Given the description of an element on the screen output the (x, y) to click on. 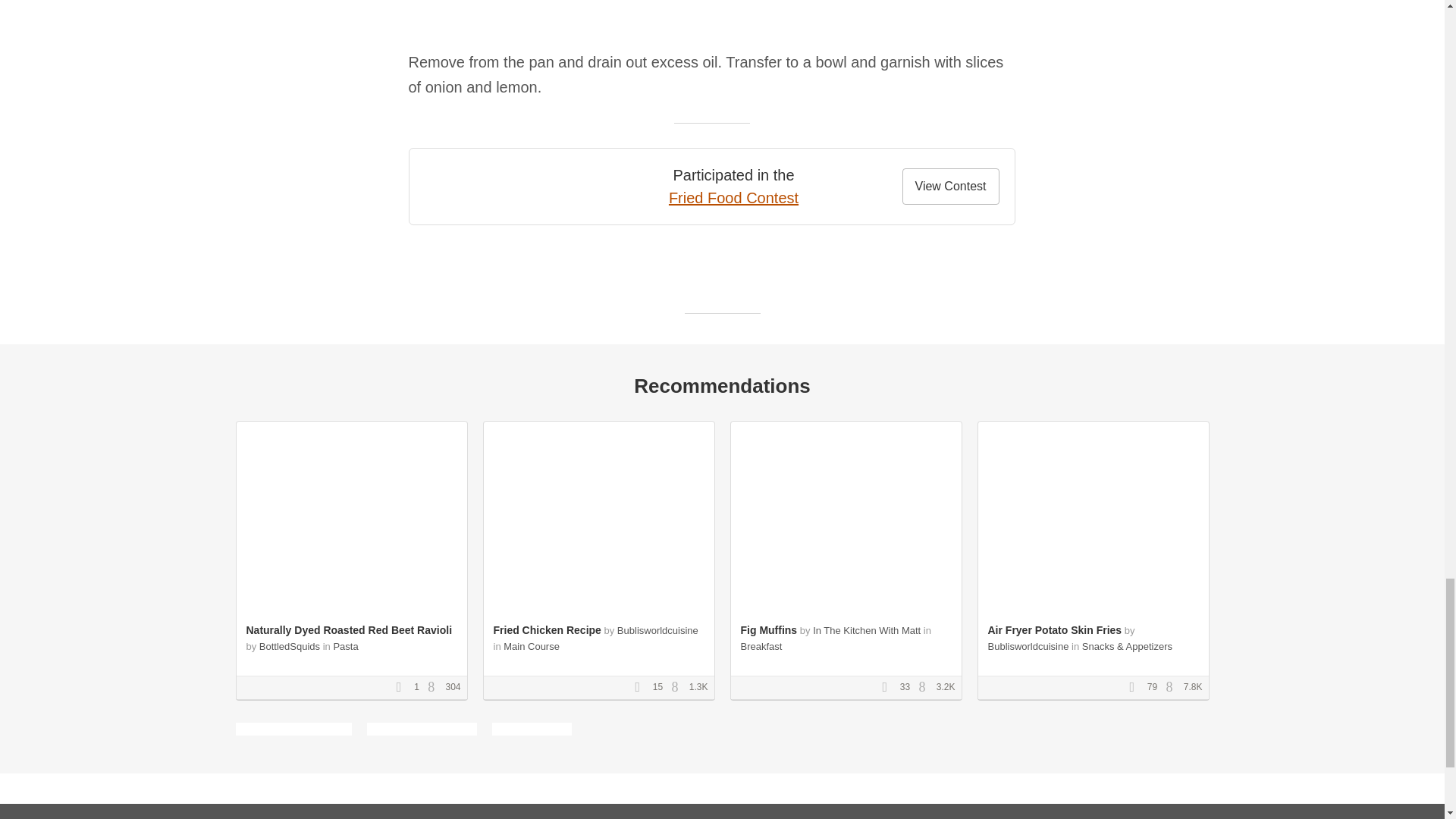
Air Fryer Potato Skin Fries (1054, 630)
In The Kitchen With Matt (866, 630)
Favorites Count (641, 687)
Favorites Count (1136, 687)
Favorites Count (889, 687)
Naturally Dyed Roasted Red Beet Ravioli (348, 630)
Main Course (531, 645)
Favorites Count (404, 687)
Views Count (678, 687)
BottledSquids (289, 645)
